Given the description of an element on the screen output the (x, y) to click on. 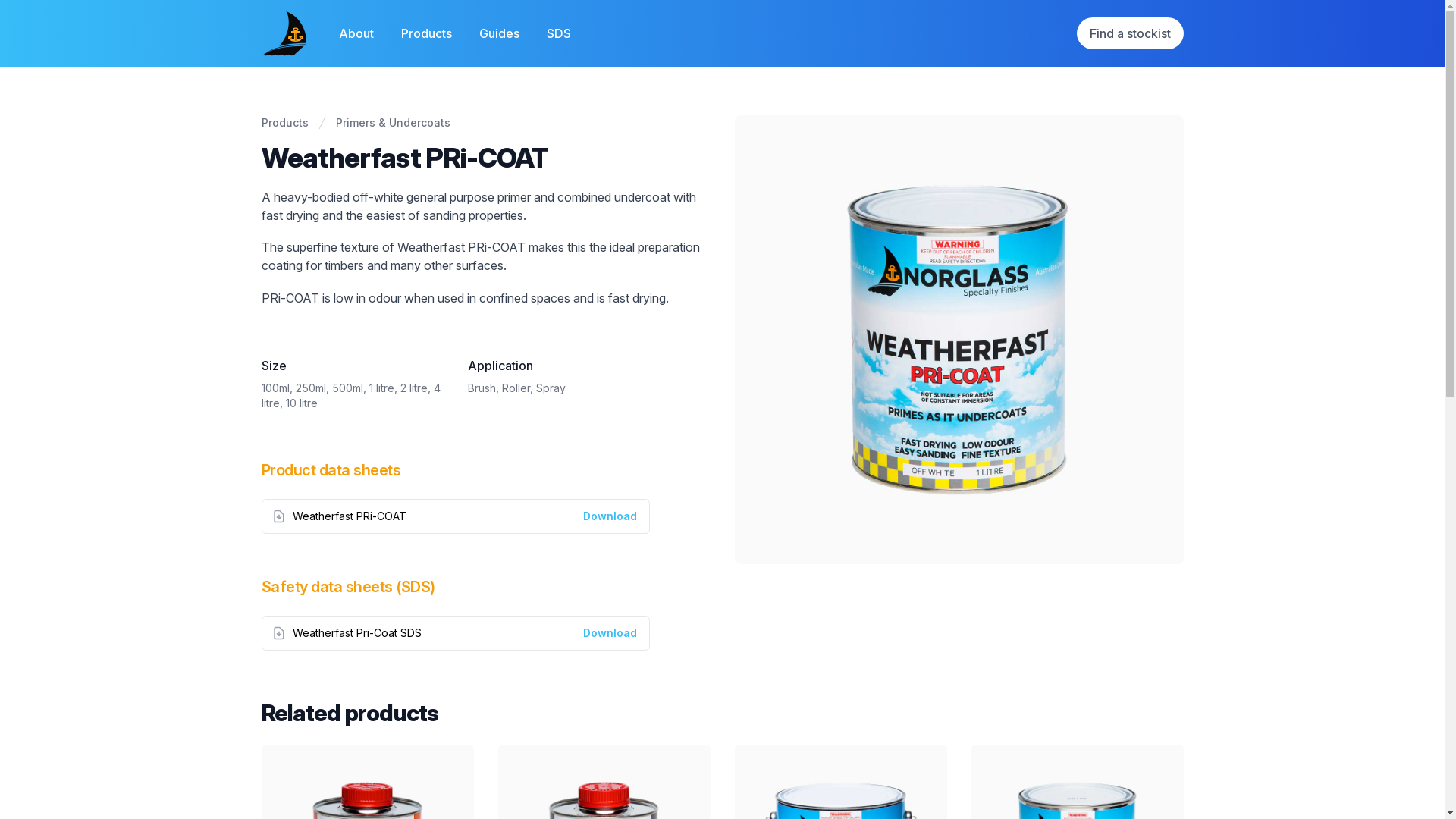
Download Element type: text (609, 632)
About Element type: text (357, 32)
Download Element type: text (609, 515)
Download Element type: text (609, 516)
Download Element type: text (609, 632)
SDS Element type: text (558, 32)
Find a stockist Element type: text (1129, 33)
Guides Element type: text (500, 32)
Products Element type: text (283, 122)
Primers & Undercoats Element type: text (392, 122)
Products Element type: text (428, 32)
